Given the description of an element on the screen output the (x, y) to click on. 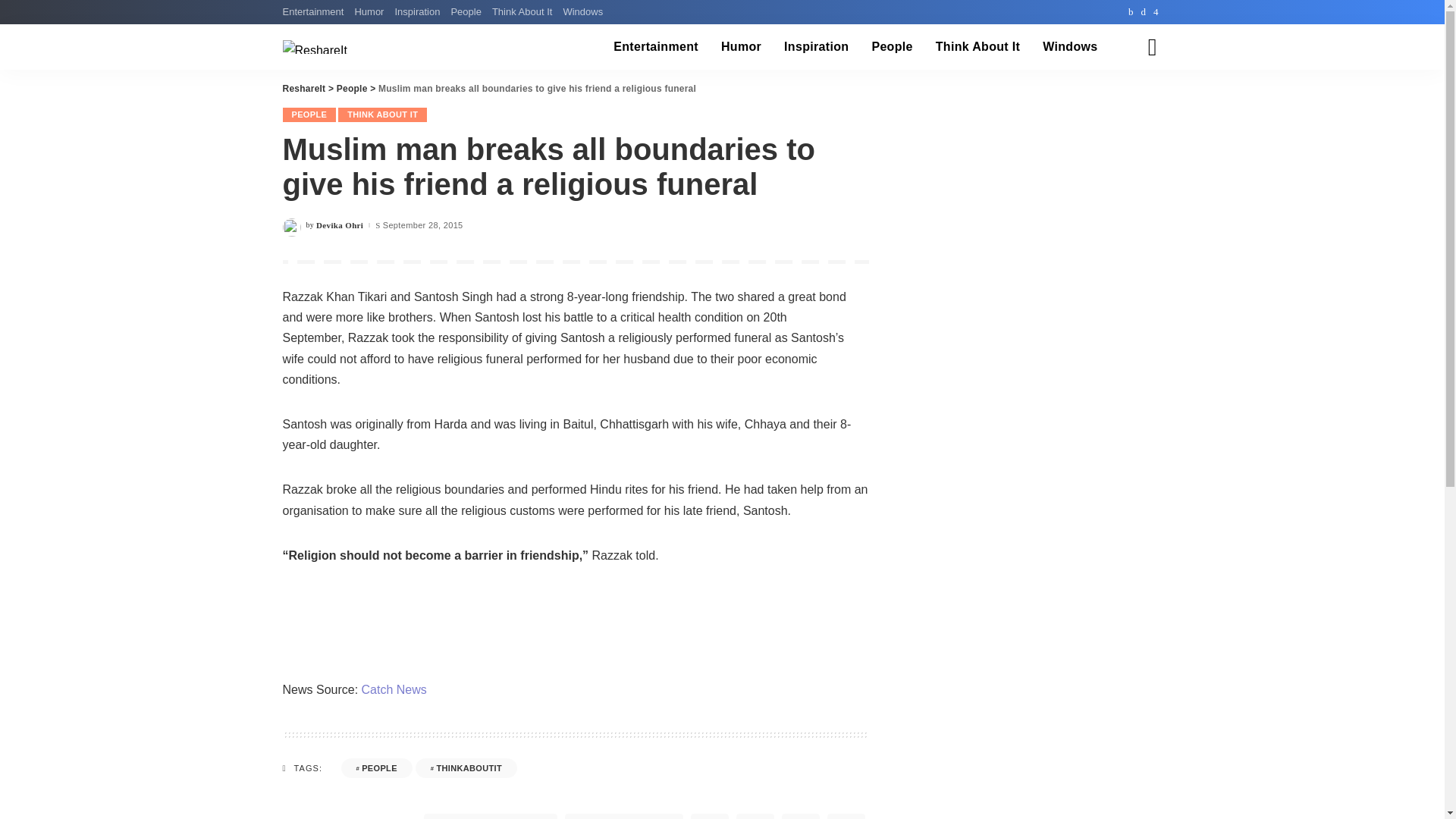
Humor (741, 46)
Entertainment (656, 46)
Inspiration (816, 46)
Entertainment (315, 11)
Think About It (521, 11)
Inspiration (416, 11)
WhatsApp (709, 816)
Humor (368, 11)
thinkaboutit (465, 768)
Think About It (977, 46)
